Given the description of an element on the screen output the (x, y) to click on. 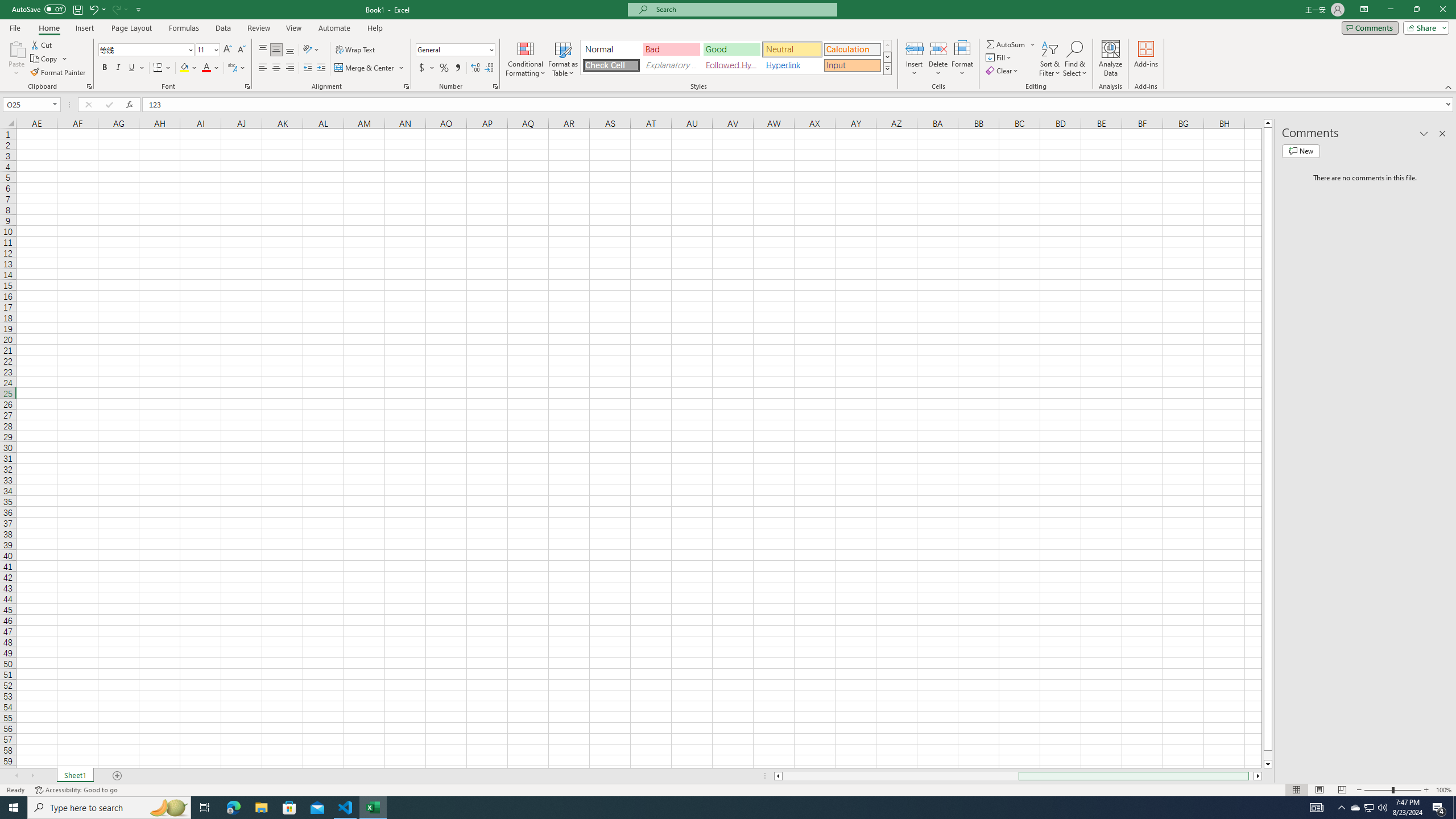
Format (962, 58)
Explanatory Text (671, 65)
Font Color (210, 67)
Font (142, 49)
Comma Style (457, 67)
Show Phonetic Field (236, 67)
Clear (1003, 69)
Number Format (455, 49)
Align Right (290, 67)
Paste (16, 48)
